Given the description of an element on the screen output the (x, y) to click on. 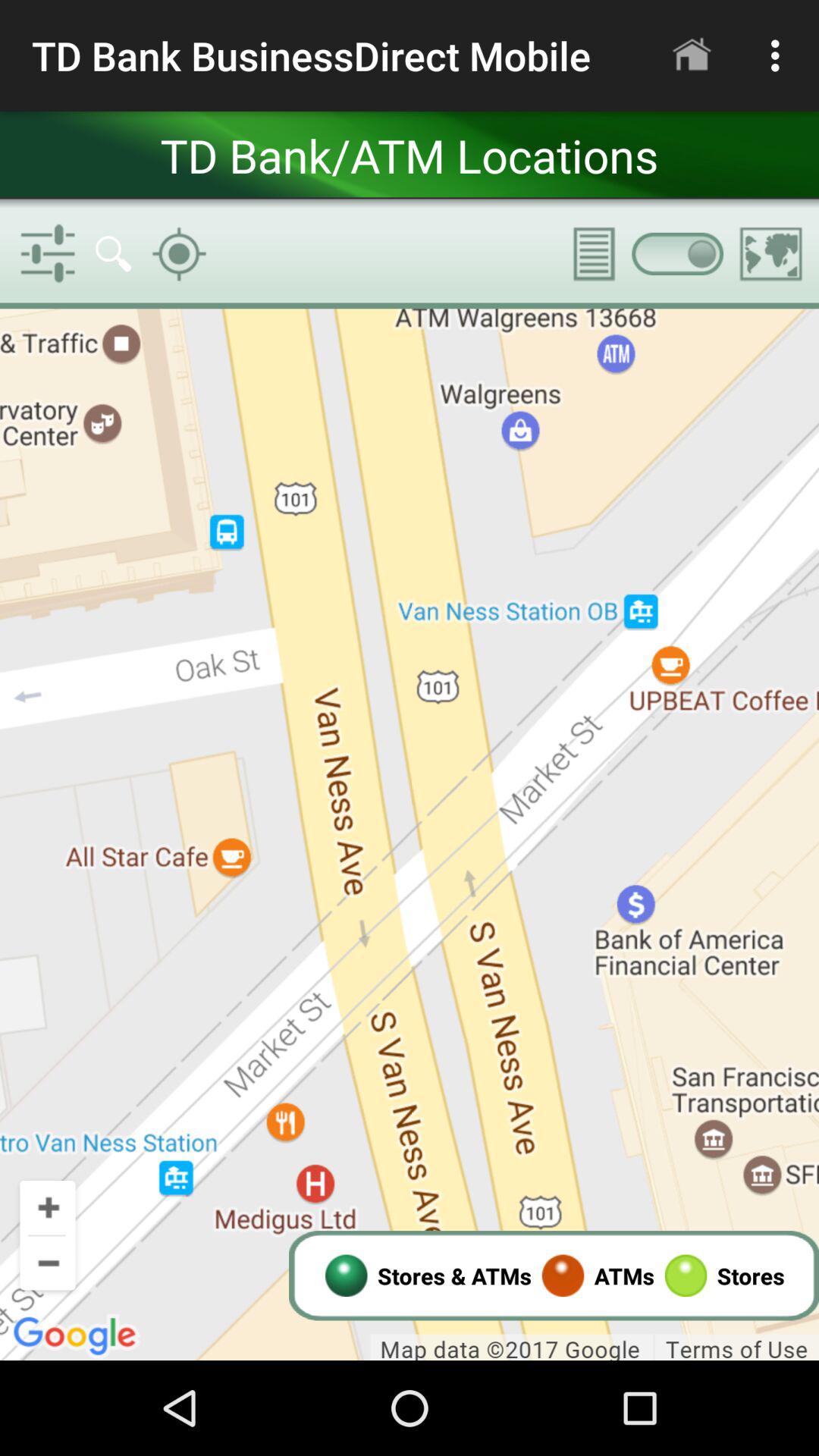
manipulate zoom level (409, 834)
